Given the description of an element on the screen output the (x, y) to click on. 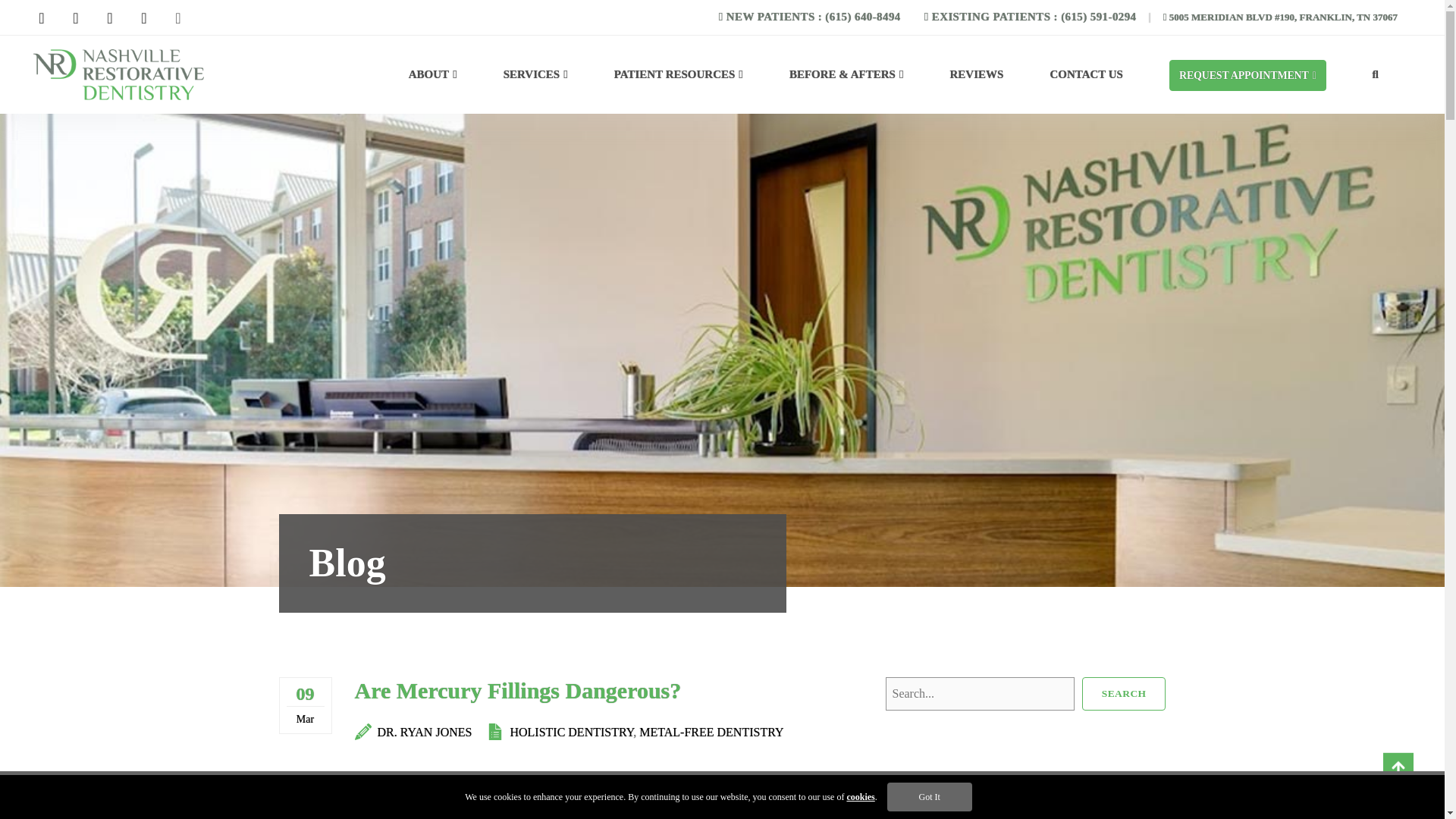
SERVICES (535, 74)
ABOUT (433, 74)
